Given the description of an element on the screen output the (x, y) to click on. 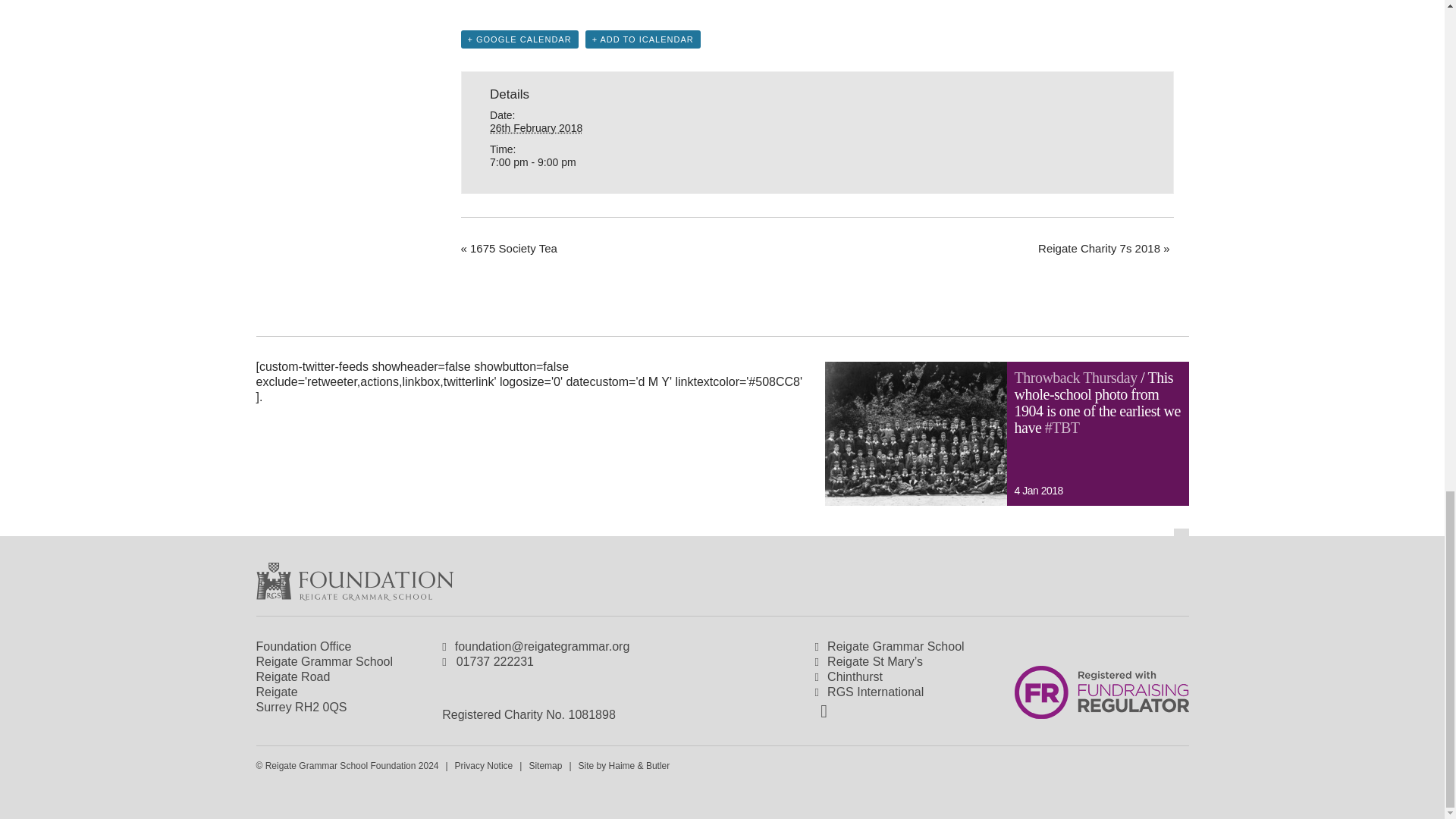
2018-02-26 (579, 162)
Download .ics file (642, 39)
RGS Foundation (354, 581)
Add to Google Calendar (519, 39)
2018-02-26 (535, 128)
